Given the description of an element on the screen output the (x, y) to click on. 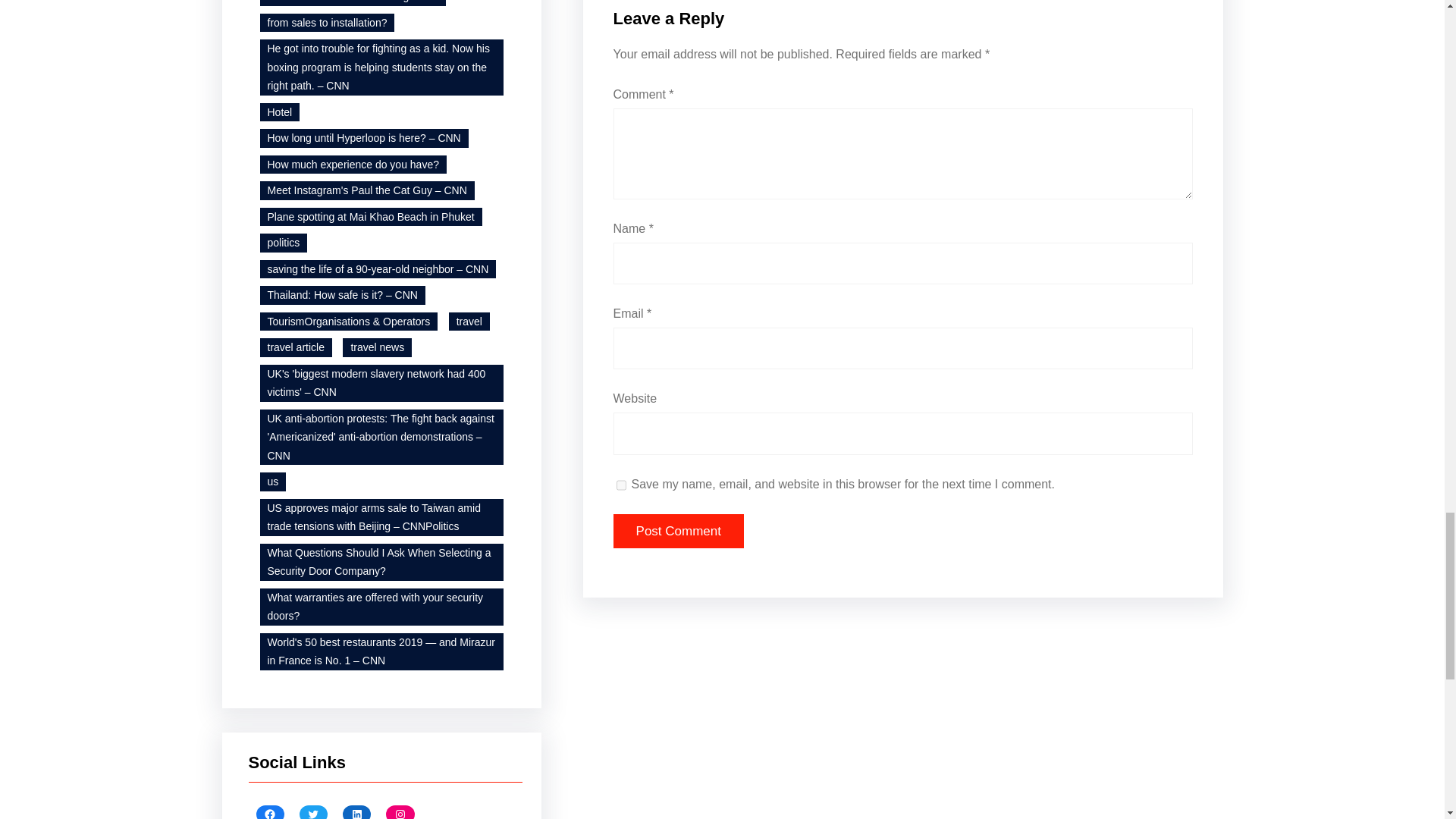
Post Comment (678, 531)
